Given the description of an element on the screen output the (x, y) to click on. 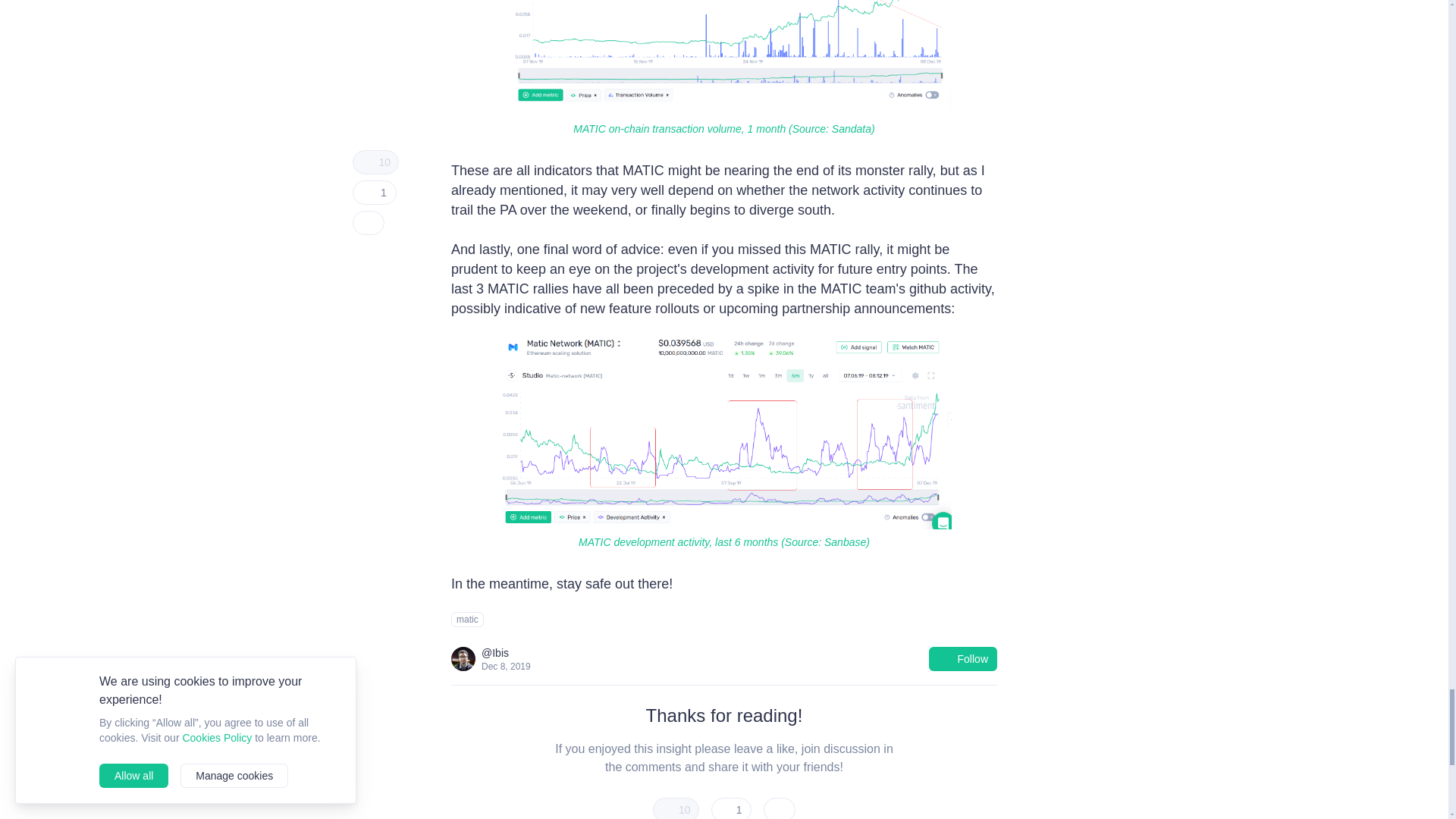
Follow (962, 658)
matic (467, 619)
10 (675, 808)
1 (731, 808)
